Given the description of an element on the screen output the (x, y) to click on. 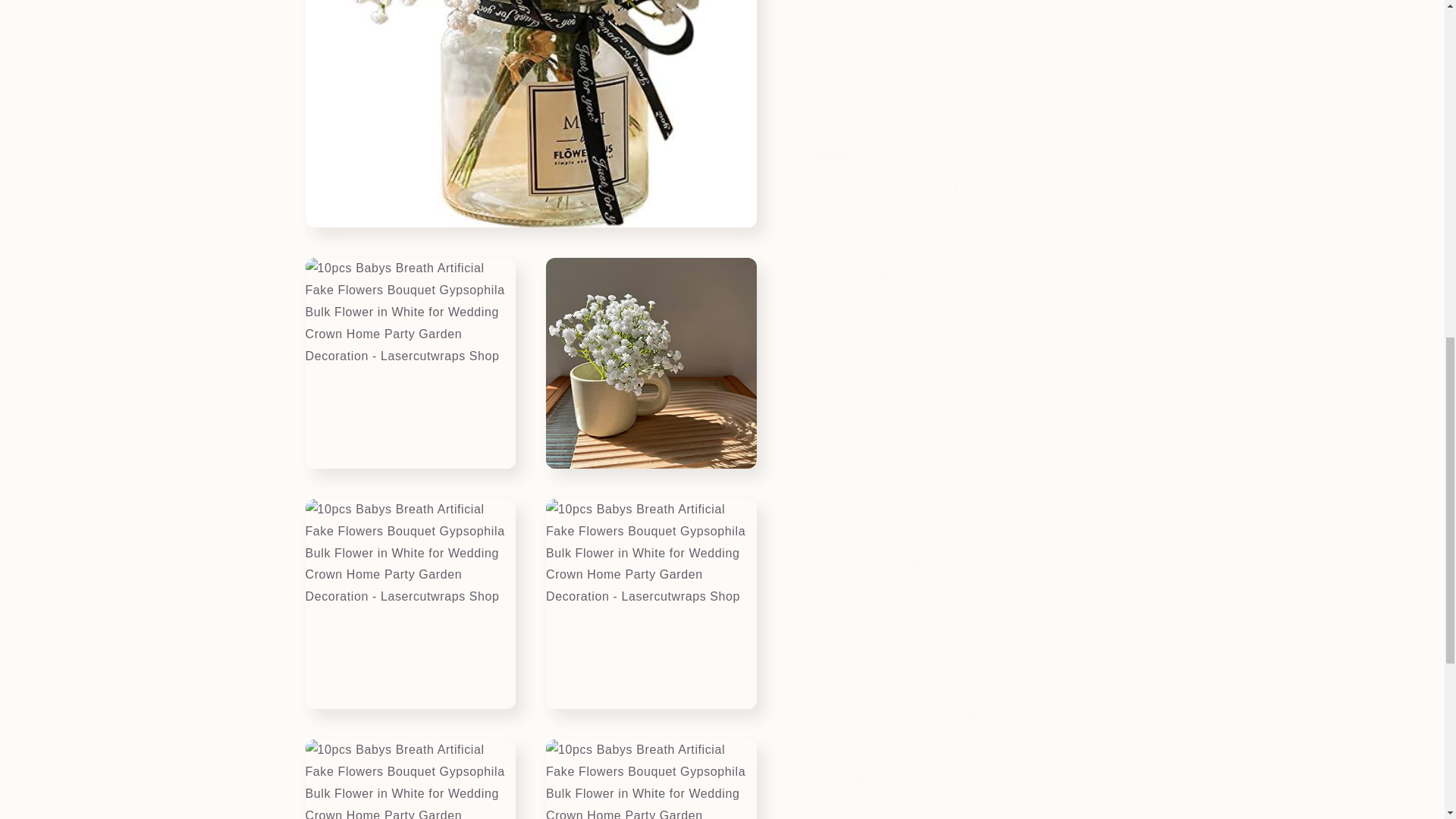
Open media 7 in modal (651, 421)
Open media 4 in modal (409, 181)
Open media 3 in modal (651, 22)
Open media 5 in modal (651, 181)
Open media 2 in modal (409, 22)
Open media 6 in modal (409, 421)
